Given the description of an element on the screen output the (x, y) to click on. 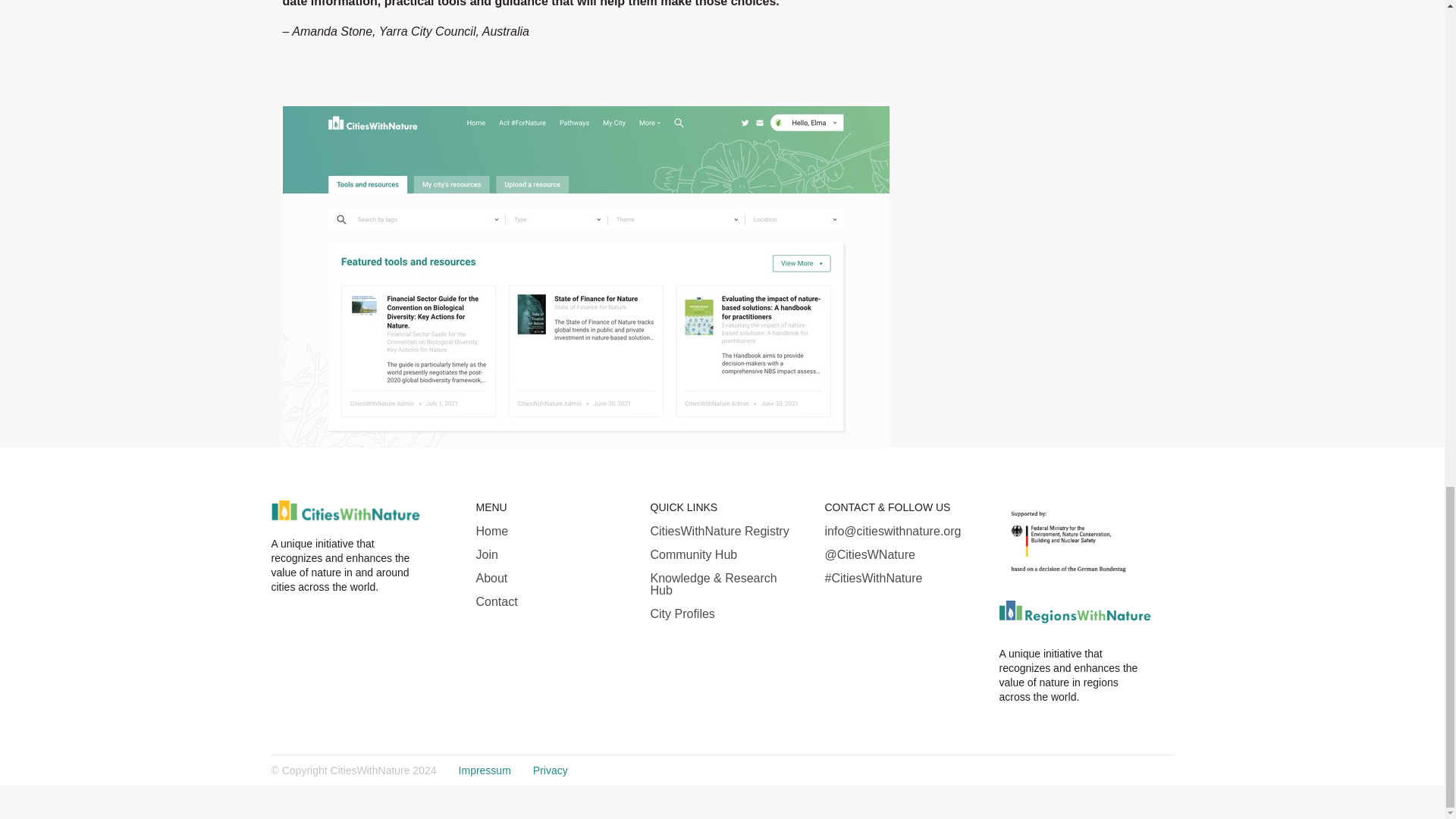
Join (551, 554)
Community Hub (726, 554)
Home (551, 531)
CitiesWithNature Registry (726, 531)
Impressum (484, 770)
Contact (551, 602)
About (551, 578)
City Profiles (726, 613)
Privacy (549, 770)
